Given the description of an element on the screen output the (x, y) to click on. 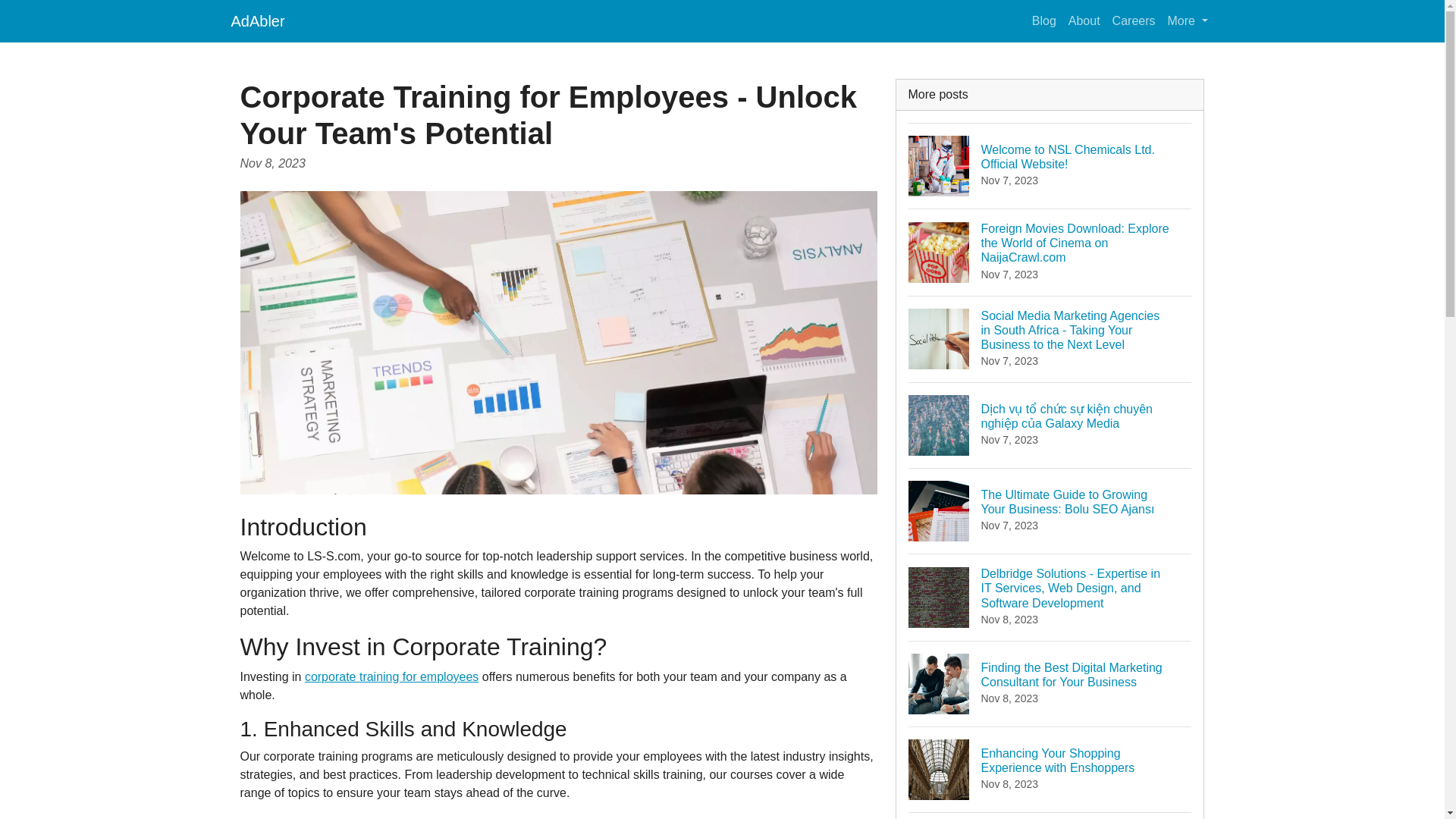
corporate training for employees (391, 676)
About (1084, 20)
Blog (1044, 20)
More (1187, 20)
AdAbler (256, 20)
